Given the description of an element on the screen output the (x, y) to click on. 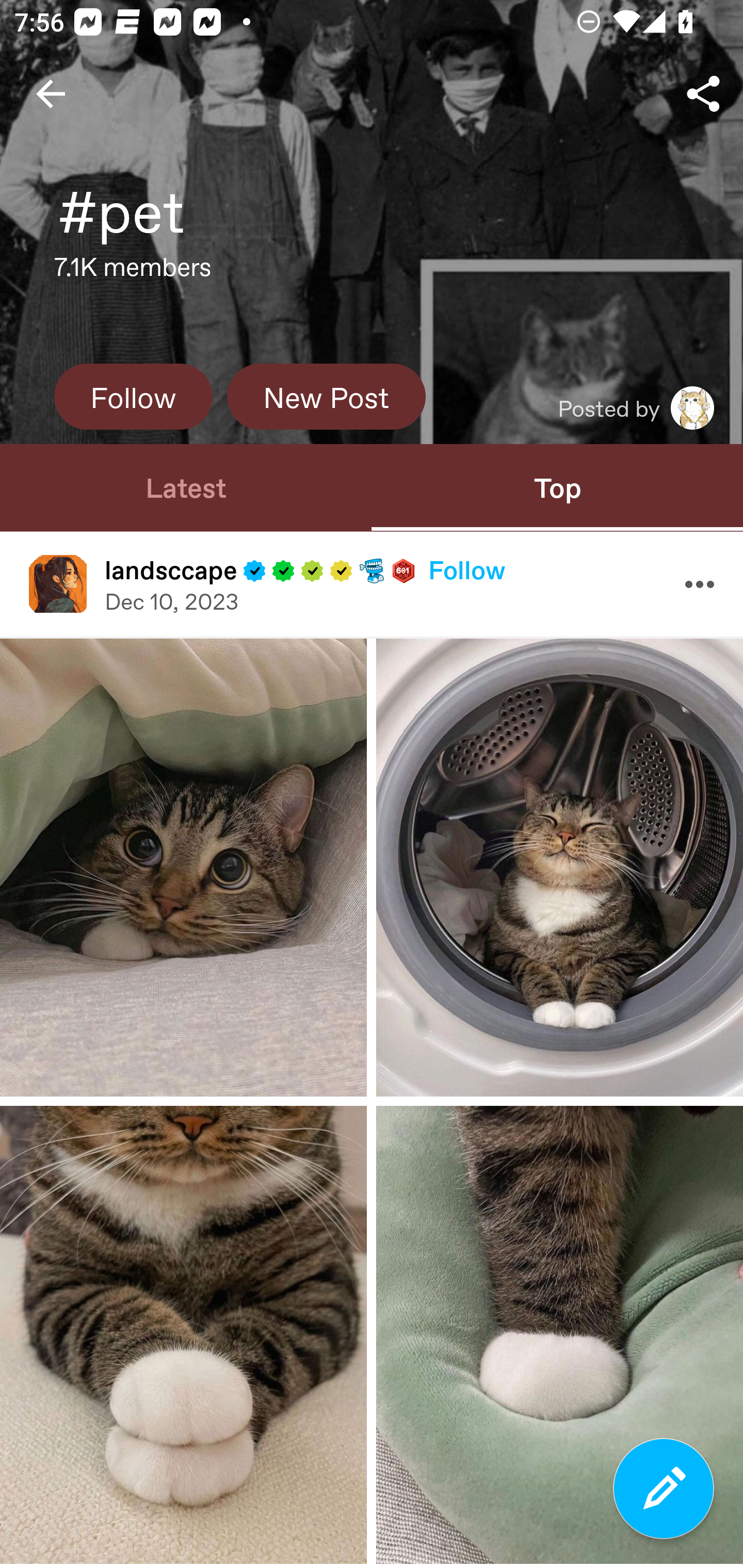
Navigate up (50, 93)
7.1K members (132, 272)
Follow (133, 396)
New Post (326, 396)
Latest (185, 486)
Follow (466, 569)
Compose a new post (663, 1488)
